Given the description of an element on the screen output the (x, y) to click on. 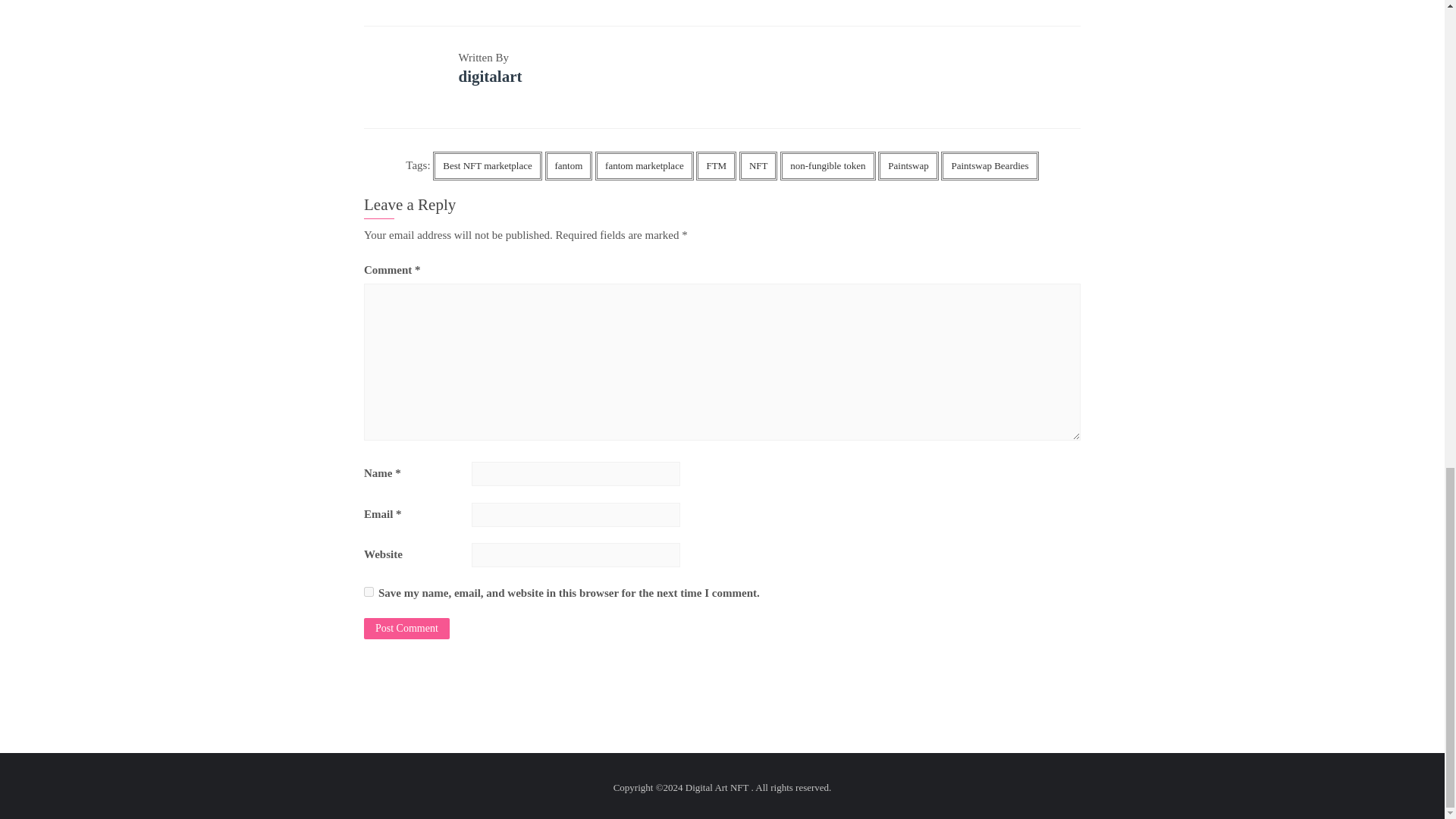
yes (369, 592)
Paintswap Beardies (989, 165)
fantom (568, 165)
fantom marketplace (644, 165)
digitalart (489, 76)
Post Comment (406, 628)
digitalart (489, 76)
non-fungible token (827, 165)
NFT (758, 165)
Paintswap (907, 165)
Post Comment (406, 628)
FTM (715, 165)
Best NFT marketplace (486, 165)
